Given the description of an element on the screen output the (x, y) to click on. 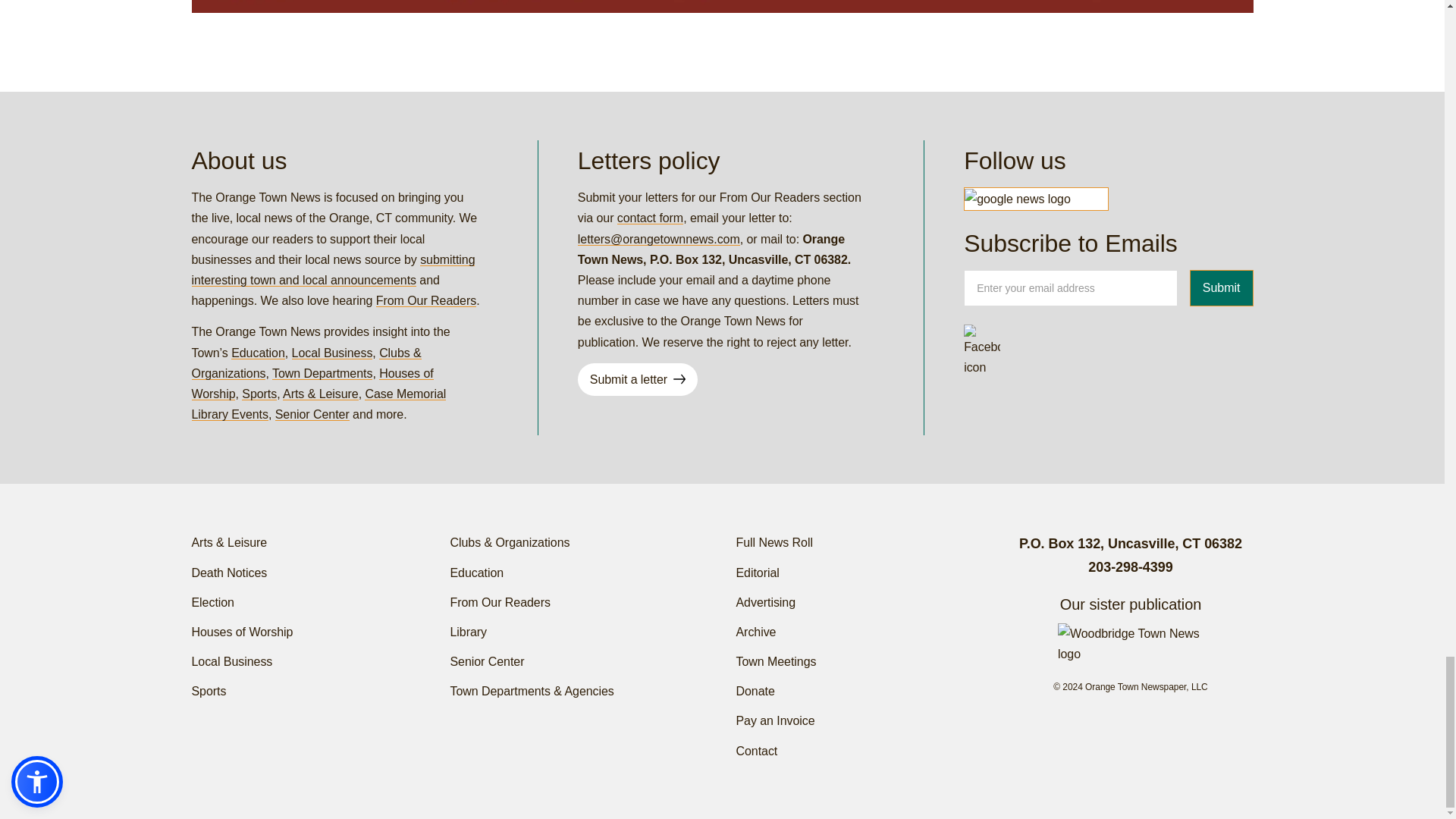
Orange Town News Facebook Page (981, 342)
Submit (1221, 288)
